Given the description of an element on the screen output the (x, y) to click on. 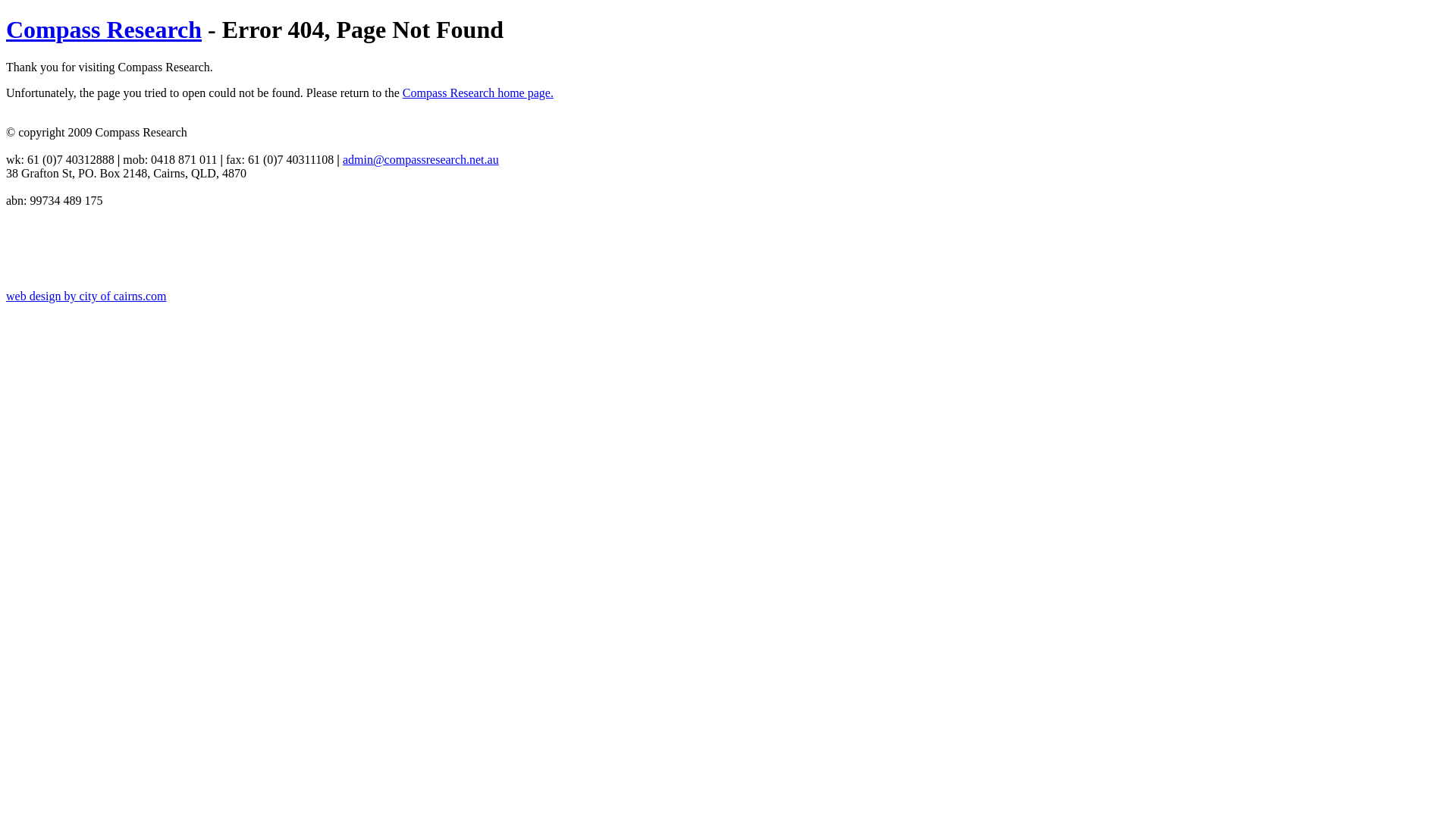
Compass Research home page. Element type: text (477, 92)
admin@compassresearch.net.au Element type: text (420, 159)
web design by city of cairns.com Element type: text (86, 295)
Compass Research Element type: text (103, 29)
